Given the description of an element on the screen output the (x, y) to click on. 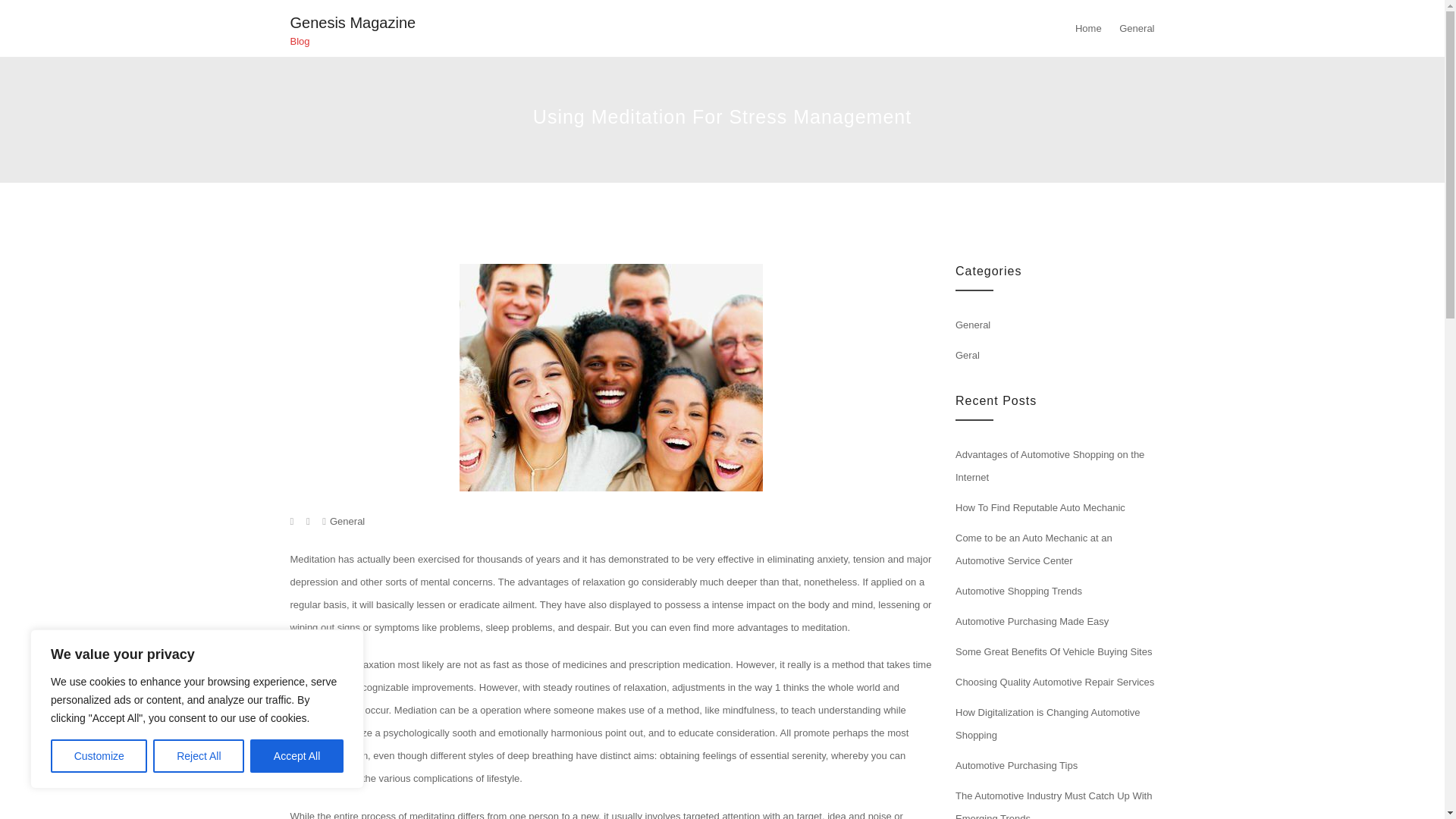
Automotive Purchasing Made Easy (1031, 621)
Reject All (198, 756)
Geral (967, 355)
General (972, 324)
Come to be an Auto Mechanic at an Automotive Service Center (1033, 549)
Genesis Magazine (351, 22)
General (347, 521)
Choosing Quality Automotive Repair Services (1054, 681)
How To Find Reputable Auto Mechanic (1040, 507)
